Given the description of an element on the screen output the (x, y) to click on. 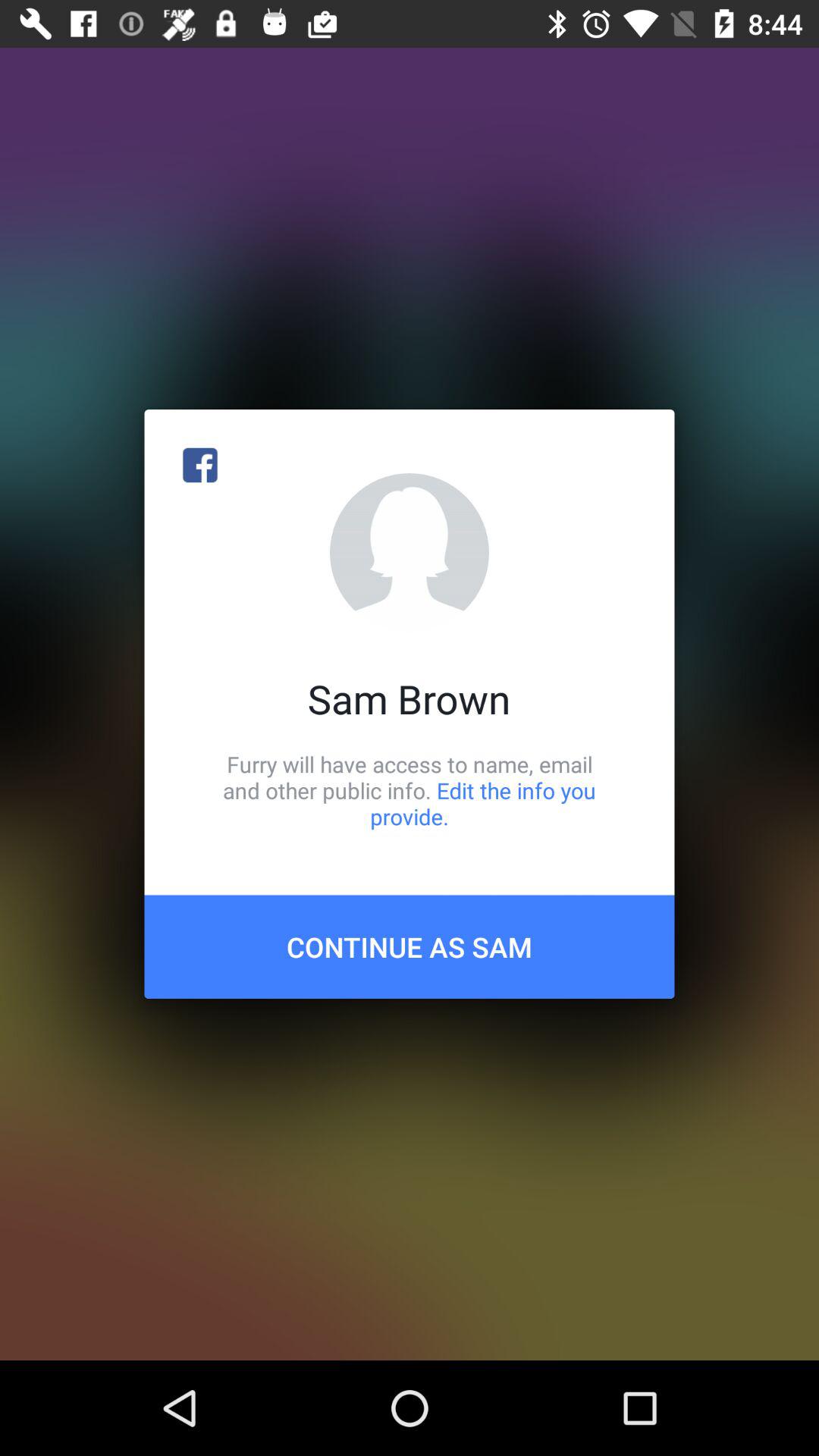
launch the icon below the sam brown (409, 790)
